Given the description of an element on the screen output the (x, y) to click on. 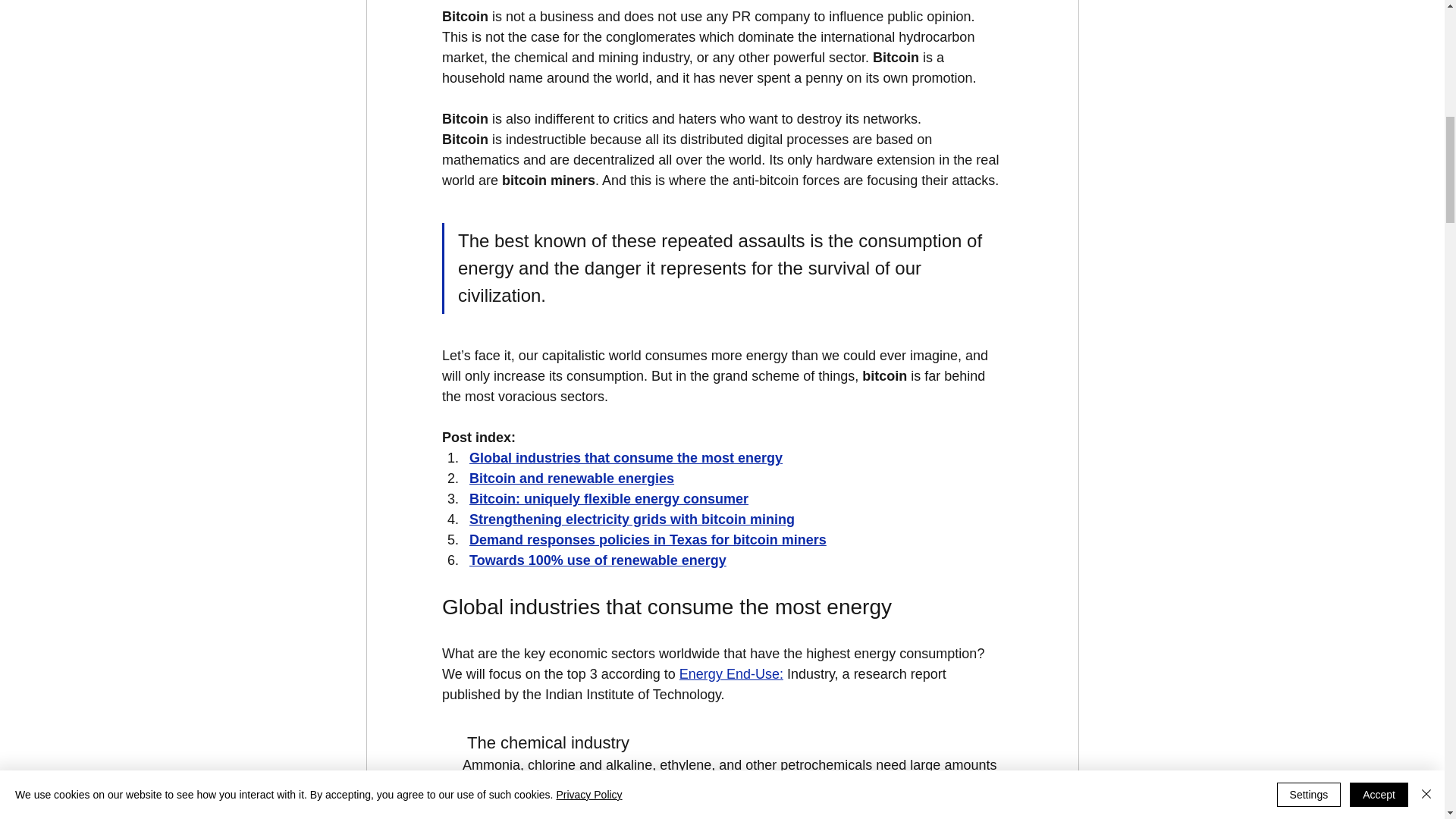
Bitcoin: uniquely flexible energy consumer (608, 498)
Bitcoin and renewable energies (570, 478)
Global industries that consume the most energy (624, 458)
